Given the description of an element on the screen output the (x, y) to click on. 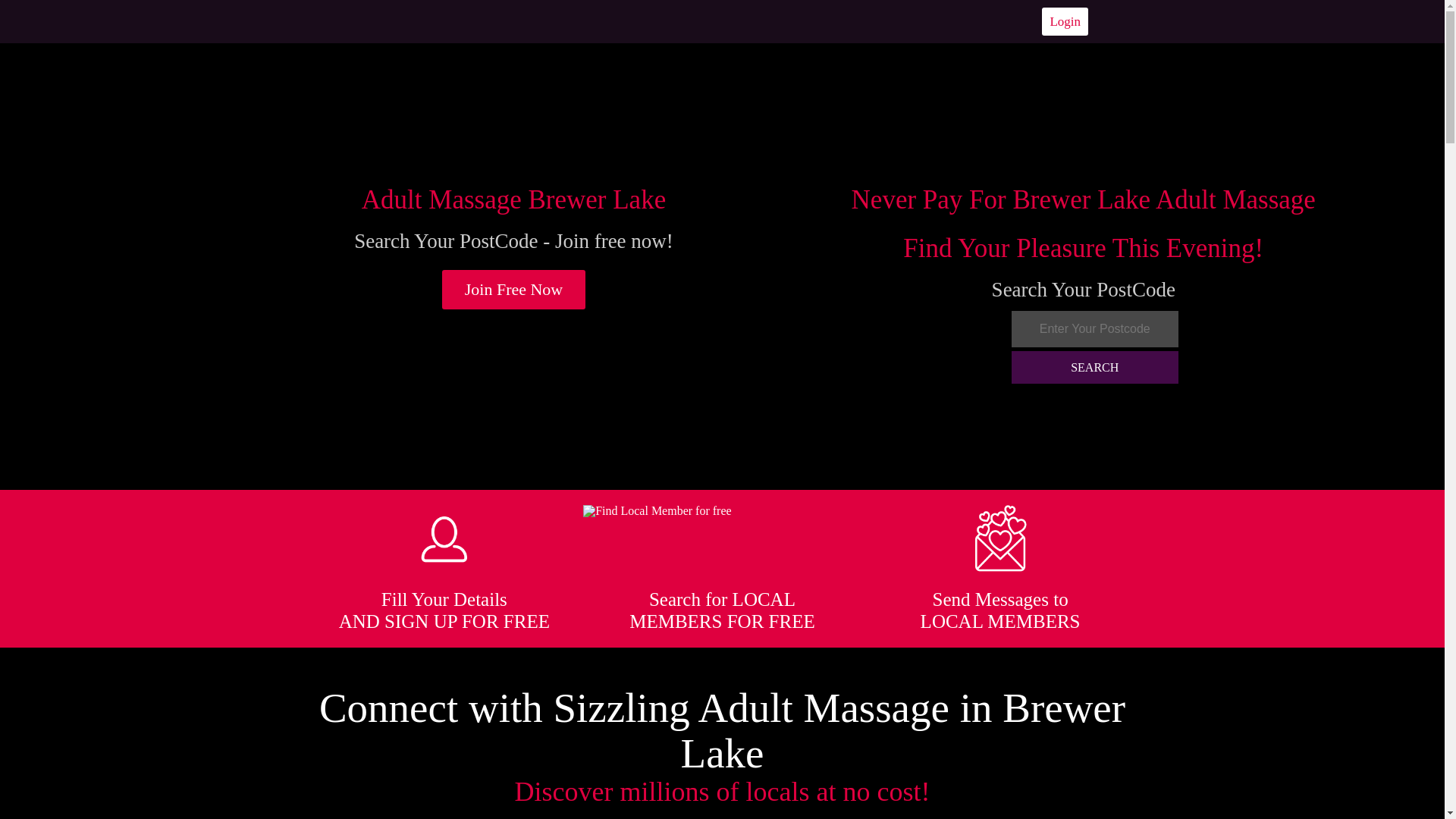
Join (514, 289)
Login (1064, 21)
Login (1064, 21)
SEARCH (1094, 367)
Join Free Now (514, 289)
